Given the description of an element on the screen output the (x, y) to click on. 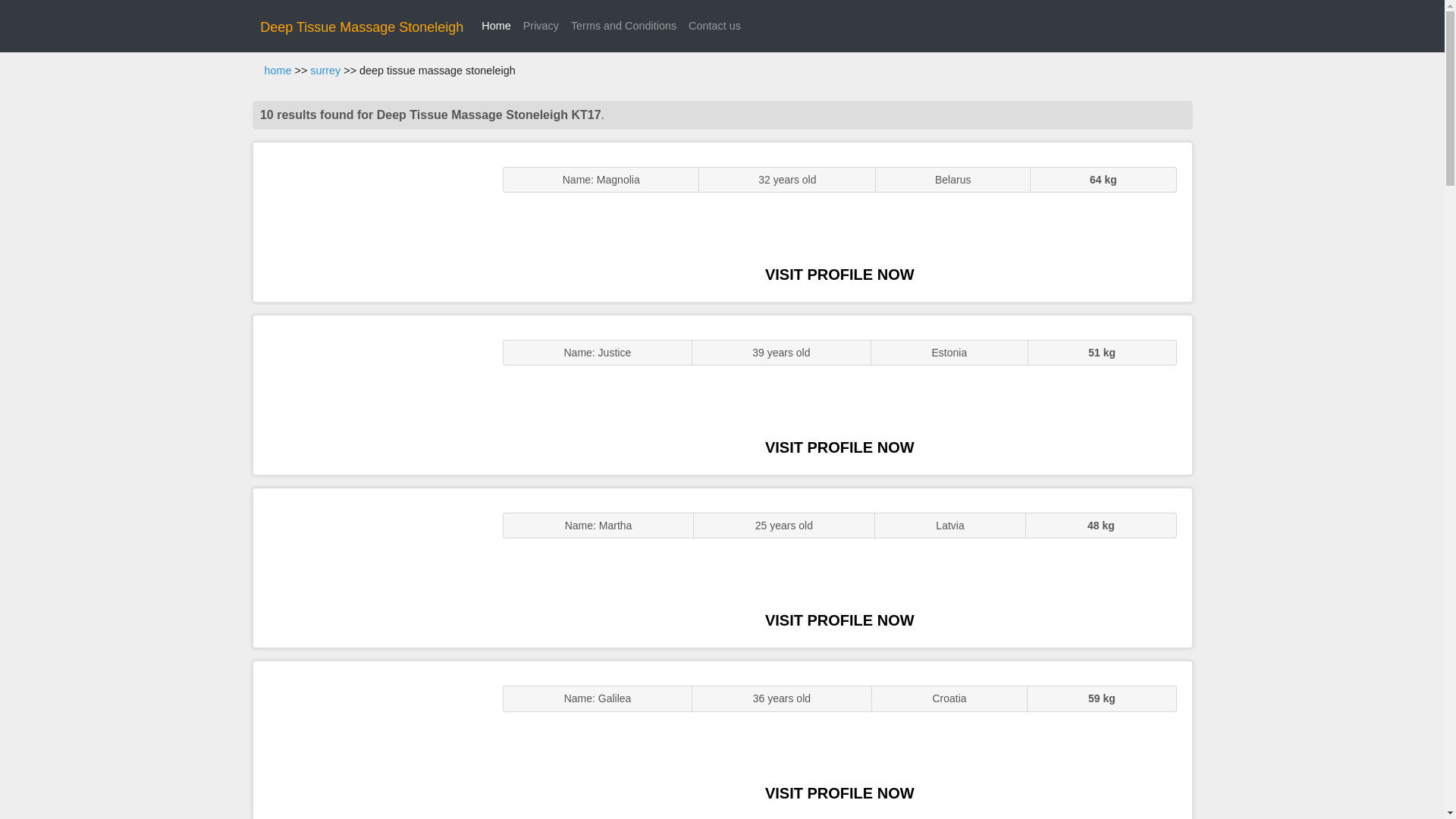
Deep Tissue Massage Stoneleigh (361, 27)
Sluts (370, 739)
GFE (370, 395)
VISIT PROFILE NOW (839, 792)
VISIT PROFILE NOW (839, 619)
Terms and Conditions (623, 25)
VISIT PROFILE NOW (839, 446)
home (277, 70)
 ENGLISH STUNNER (370, 222)
surrey (325, 70)
